Given the description of an element on the screen output the (x, y) to click on. 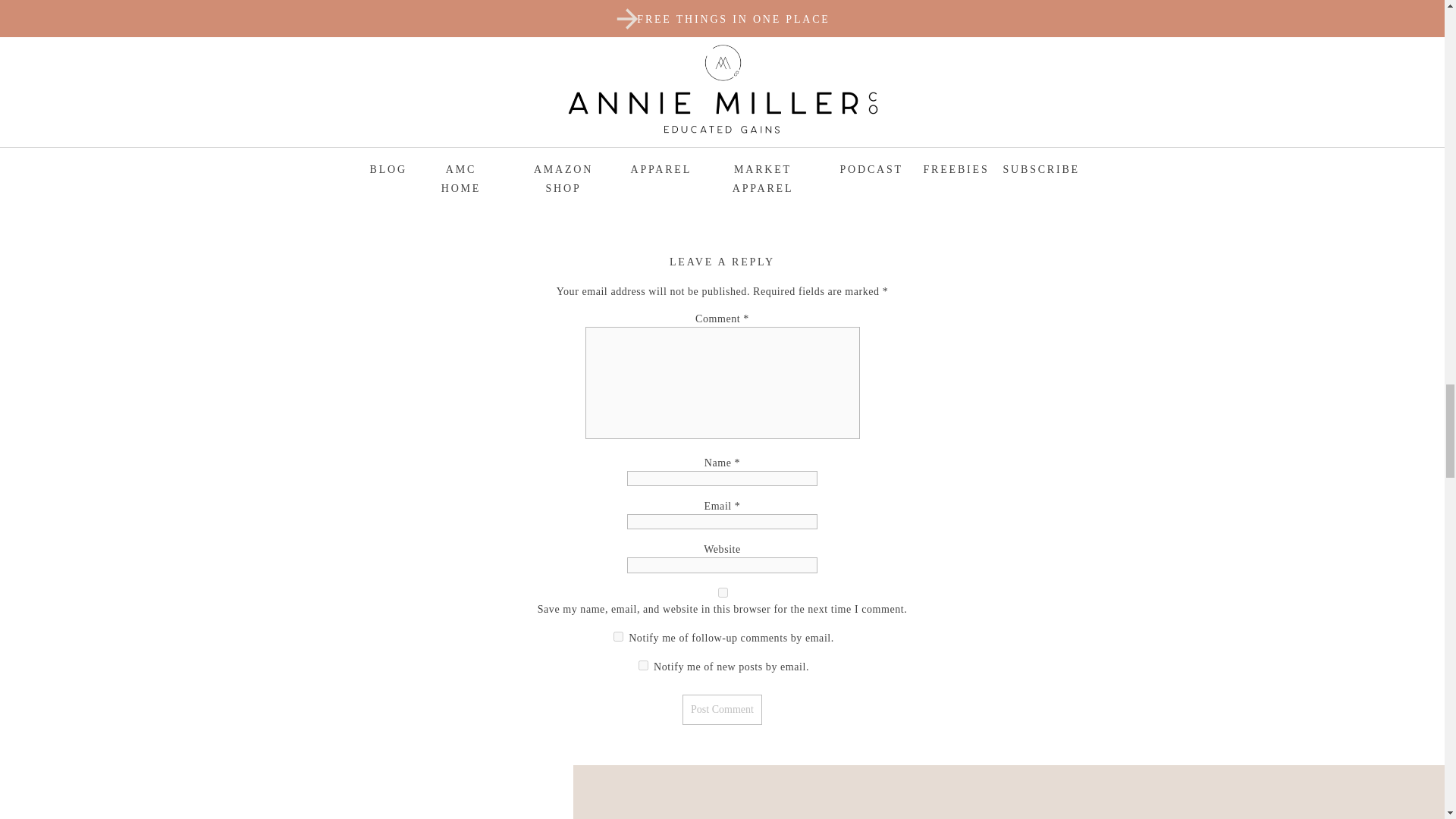
yes (721, 592)
subscribe (617, 636)
TO BUILD YOUR AUDIENCE OR YOUR OFFER? (954, 117)
subscribe (643, 665)
Post Comment (721, 709)
MY MOVEMENT JOURNEY FROM 2010-2021 (497, 115)
Post Comment (721, 709)
